Given the description of an element on the screen output the (x, y) to click on. 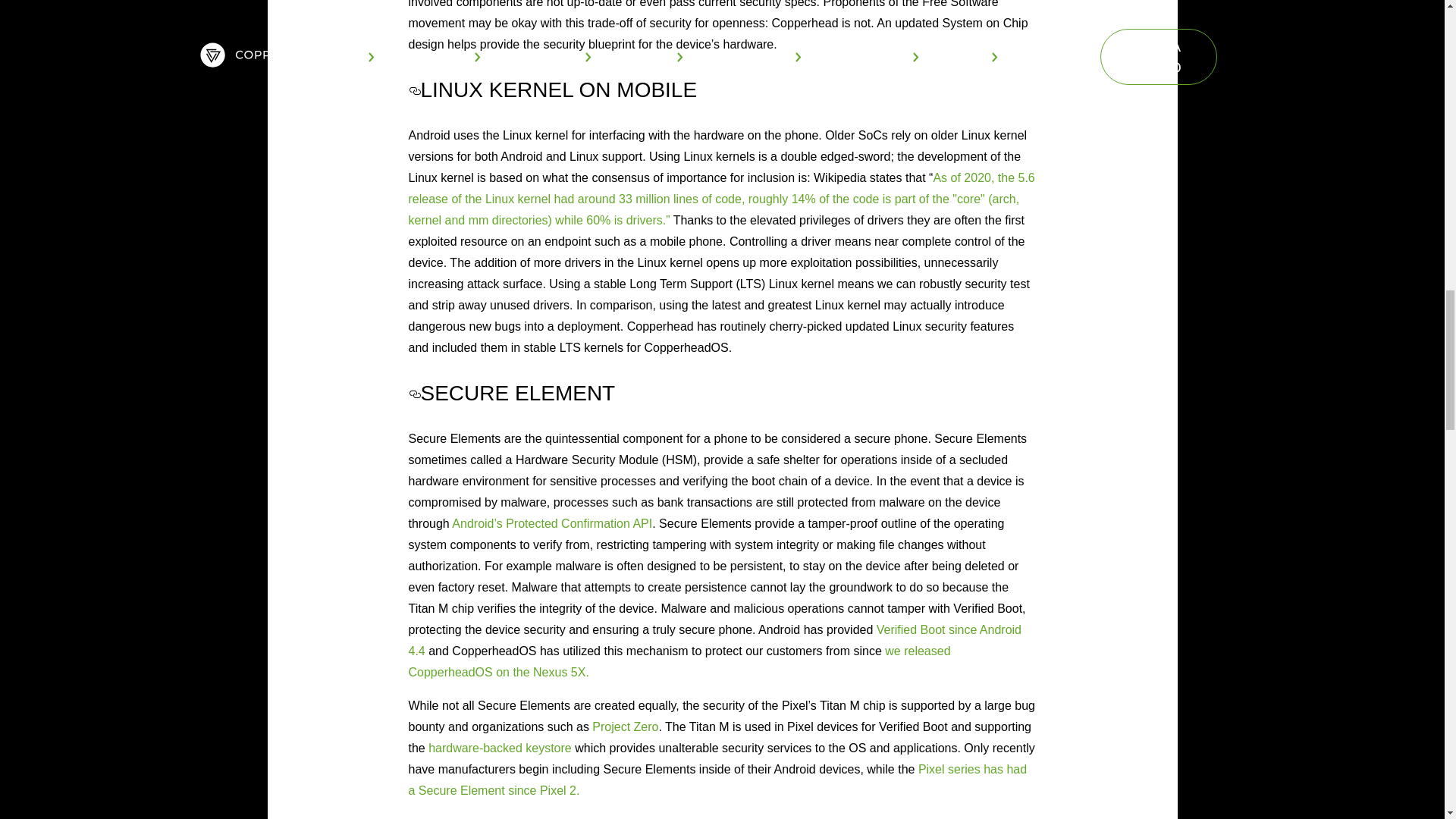
we released CopperheadOS on the Nexus 5X. (678, 661)
Pixel series has had a Secure Element since Pixel 2. (716, 779)
Project Zero (625, 726)
hardware-backed keystore (500, 748)
Verified Boot since Android 4.4 (714, 640)
